Given the description of an element on the screen output the (x, y) to click on. 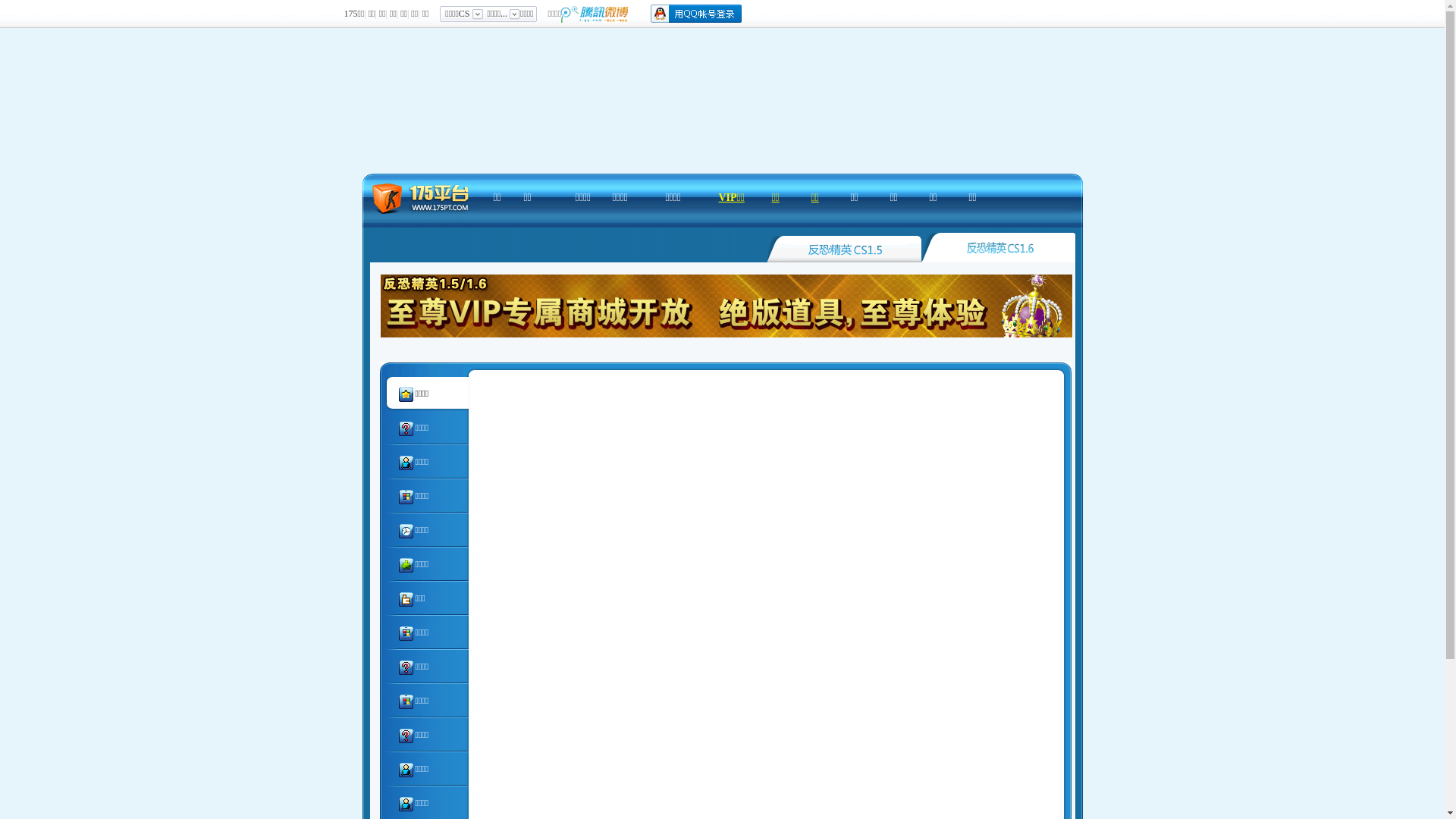
0 Element type: text (997, 247)
0 Element type: text (844, 247)
